Given the description of an element on the screen output the (x, y) to click on. 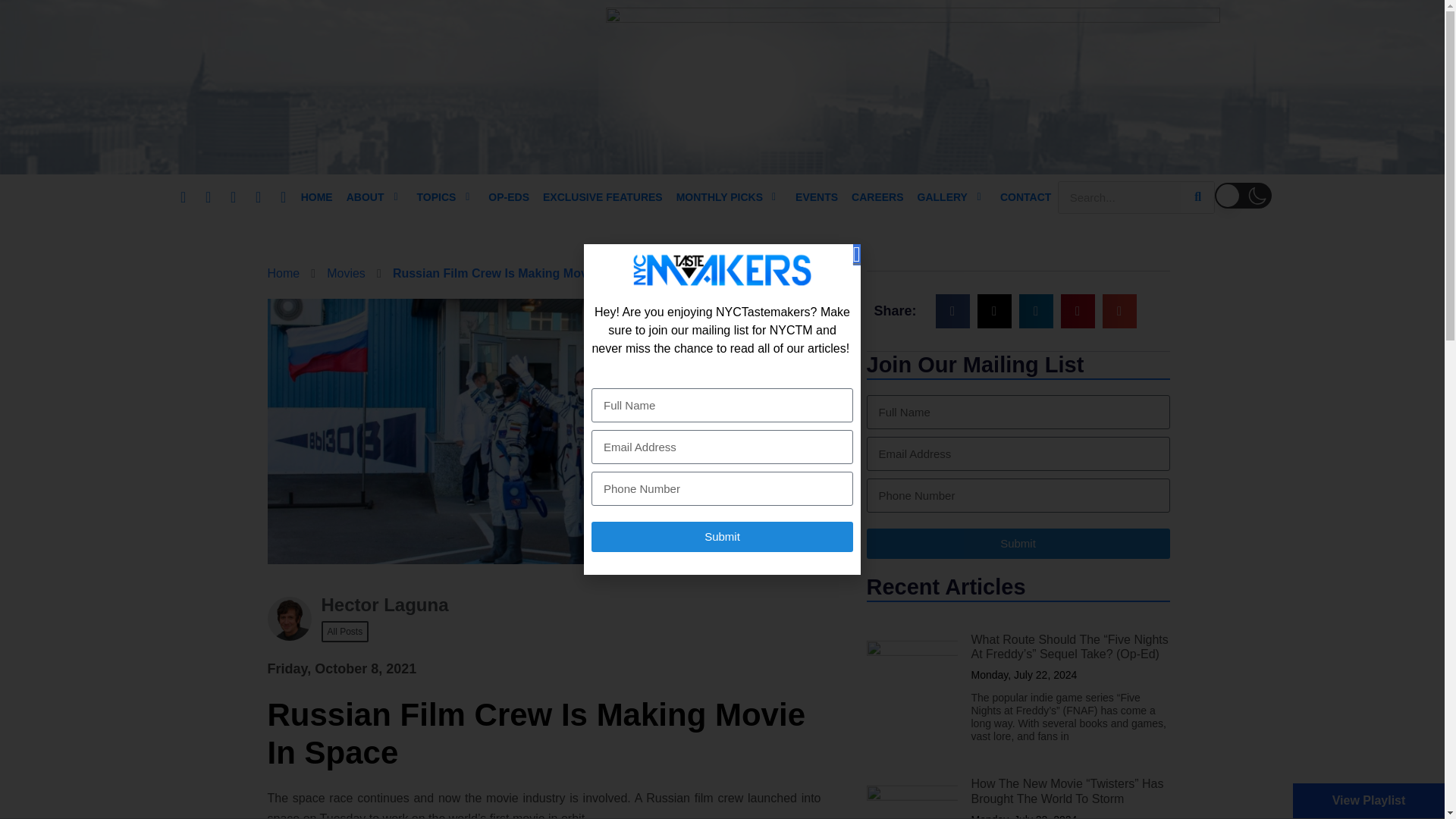
Home (282, 272)
HOME (317, 197)
Russian Film Crew Is Making Movie In Space (521, 272)
ABOUT (367, 197)
EXCLUSIVE FEATURES (602, 197)
TOPICS (438, 197)
OP-EDS (508, 197)
MONTHLY PICKS (721, 197)
